Given the description of an element on the screen output the (x, y) to click on. 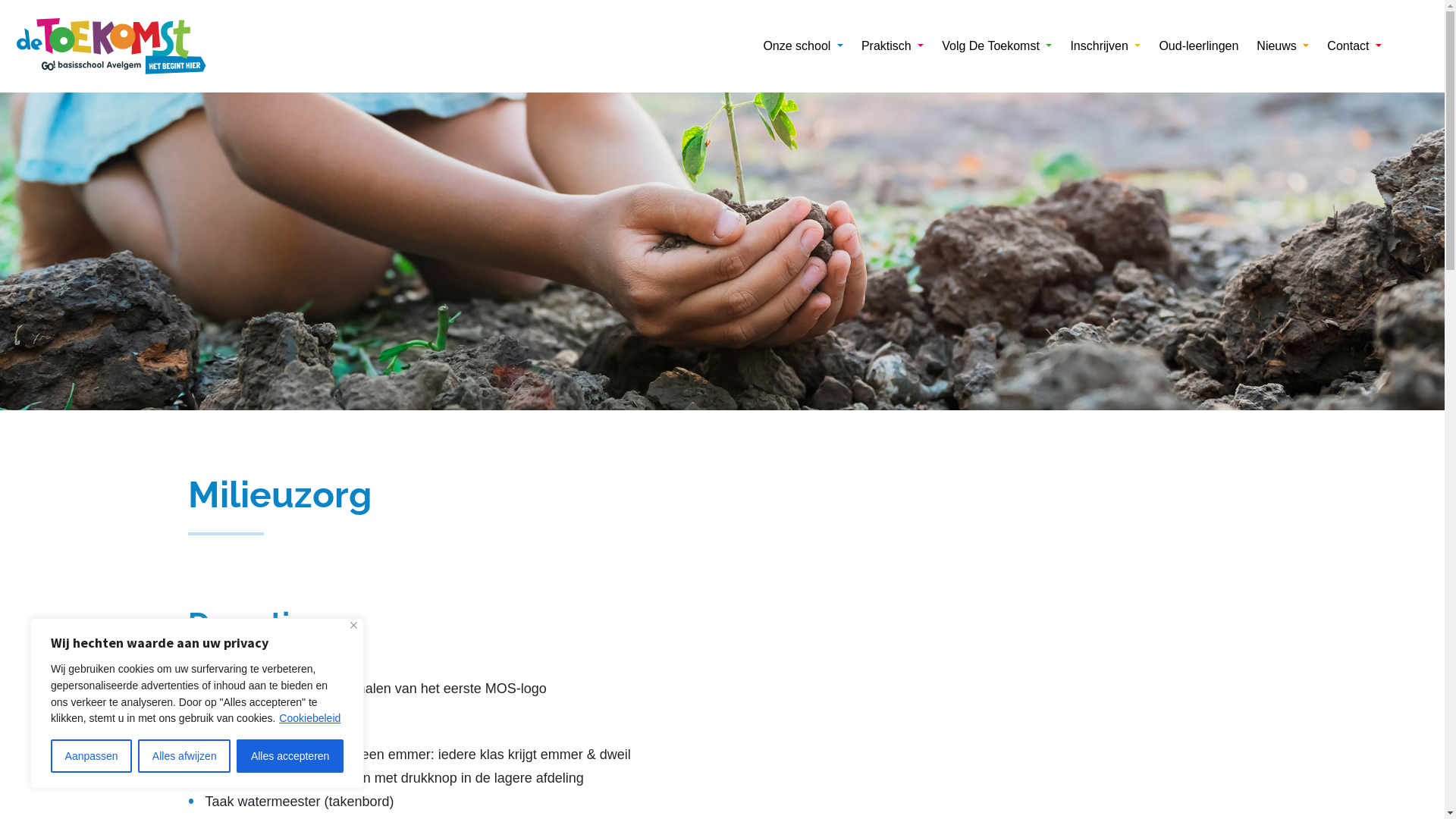
Nieuws Element type: text (1282, 46)
Contact Element type: text (1353, 46)
Aanpassen Element type: text (90, 755)
Inschrijven Element type: text (1104, 46)
Volg De Toekomst Element type: text (996, 46)
Onze school Element type: text (802, 46)
Alles afwijzen Element type: text (184, 755)
Cookiebeleid Element type: text (309, 717)
Praktisch Element type: text (892, 46)
Alles accepteren Element type: text (289, 755)
Oud-leerlingen Element type: text (1198, 46)
